Given the description of an element on the screen output the (x, y) to click on. 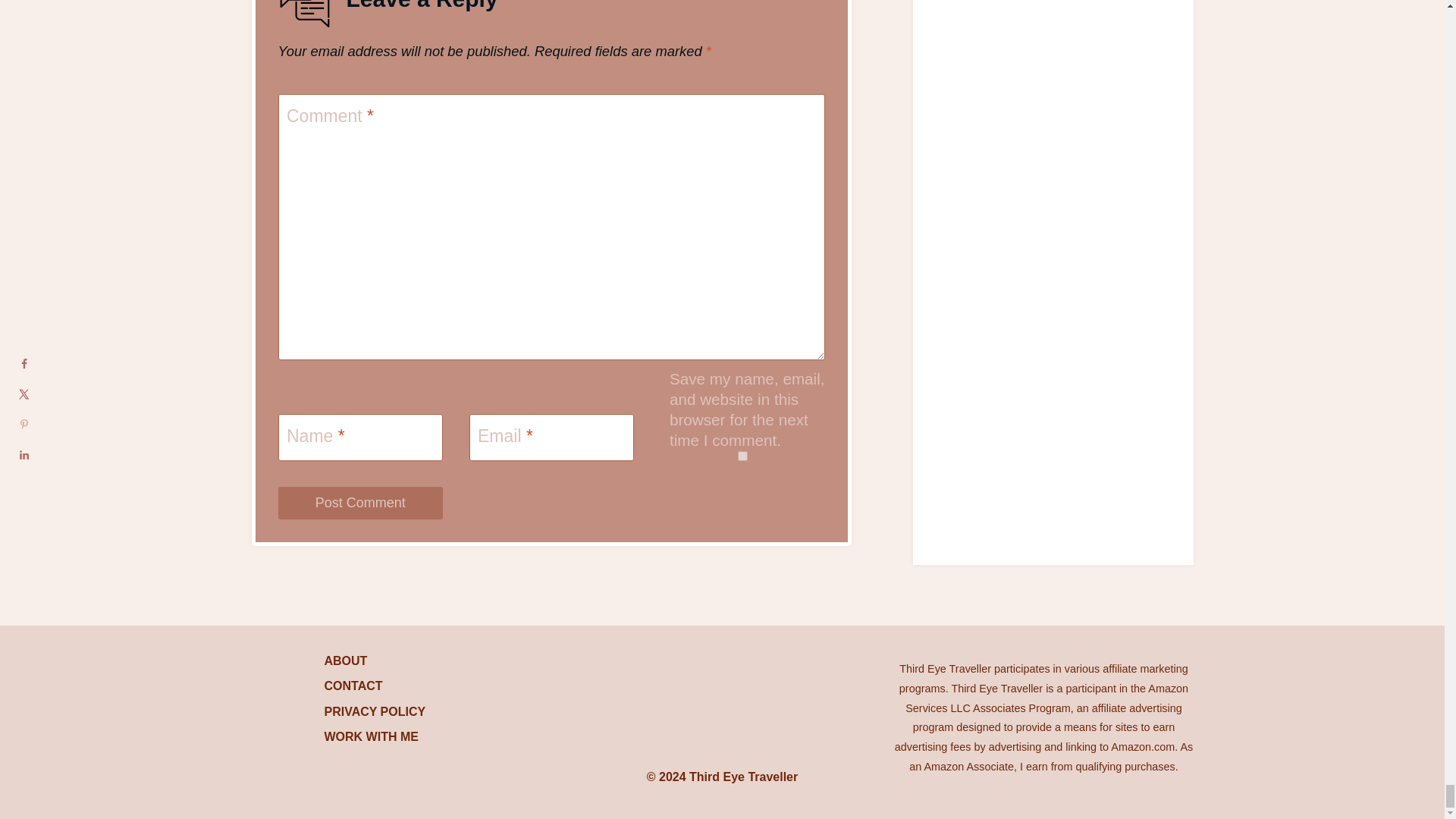
Post Comment (360, 502)
yes (742, 456)
